Given the description of an element on the screen output the (x, y) to click on. 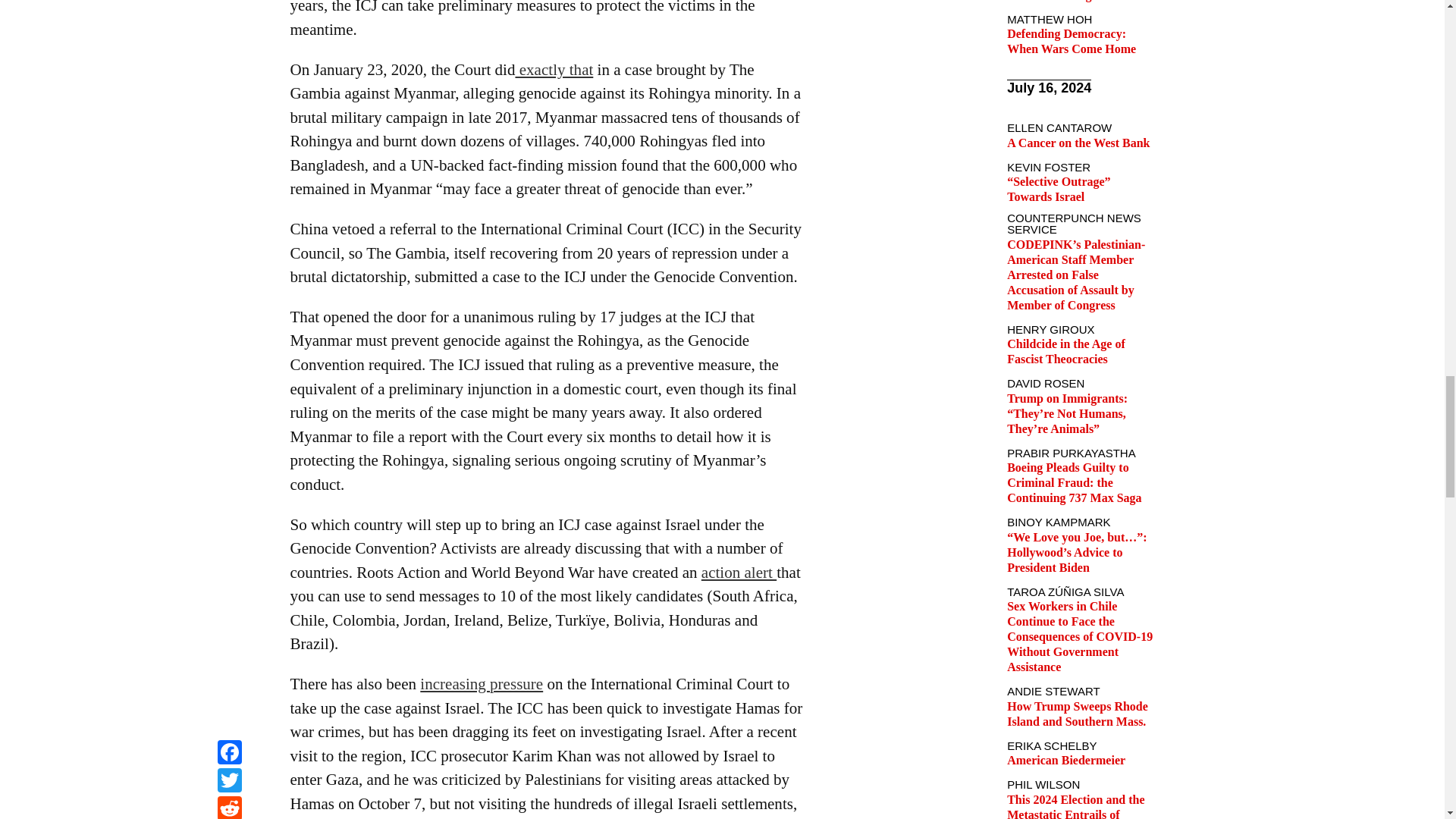
action alert (738, 572)
increasing pressure (481, 683)
exactly that (553, 69)
